Given the description of an element on the screen output the (x, y) to click on. 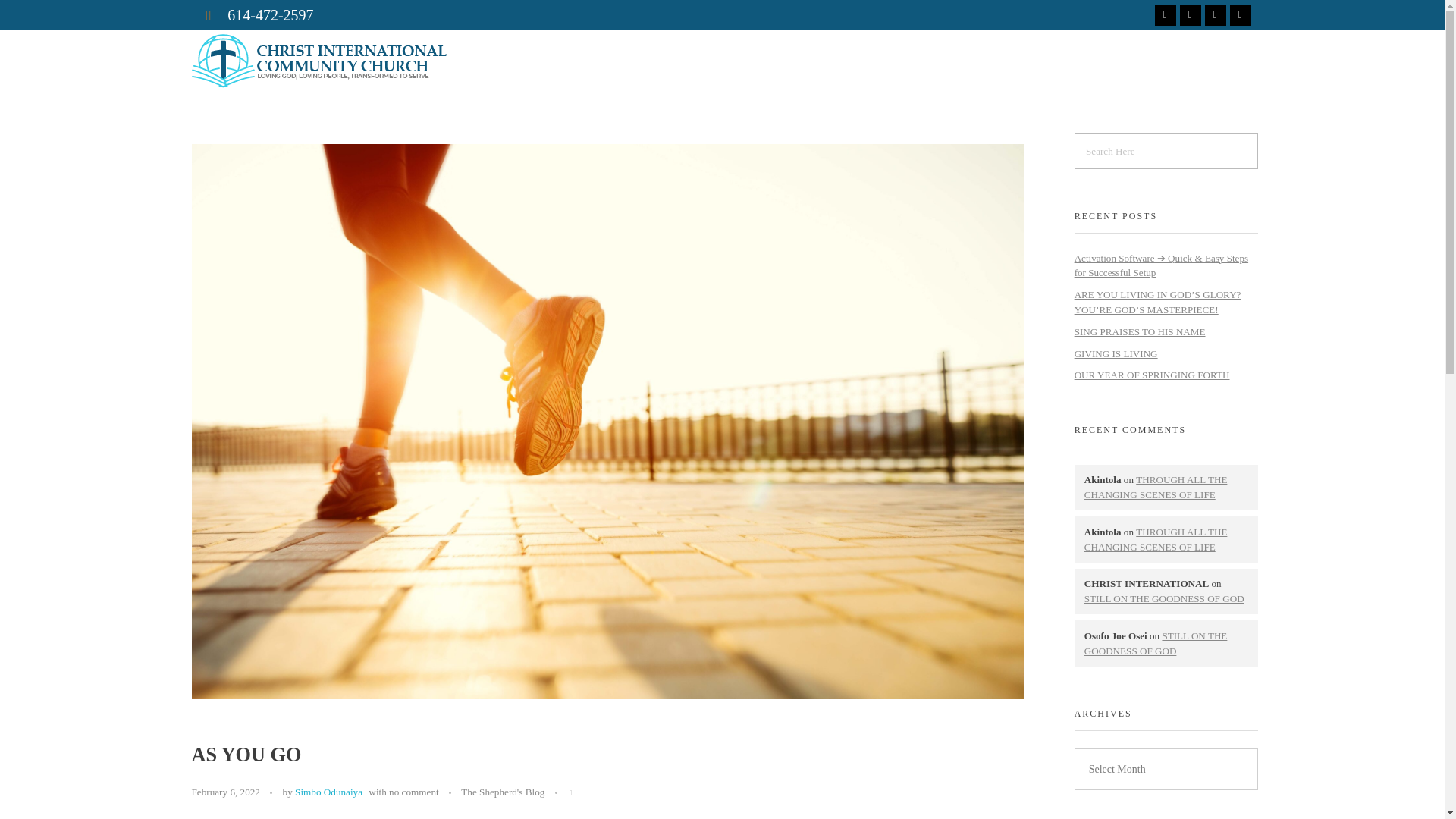
CICC-OHIO (317, 60)
View all posts by Simbo Odunaiya (328, 791)
CICC-OHIO (236, 95)
CICC-OHIO (236, 95)
View all posts in The Shepherd's Blog (502, 792)
